Given the description of an element on the screen output the (x, y) to click on. 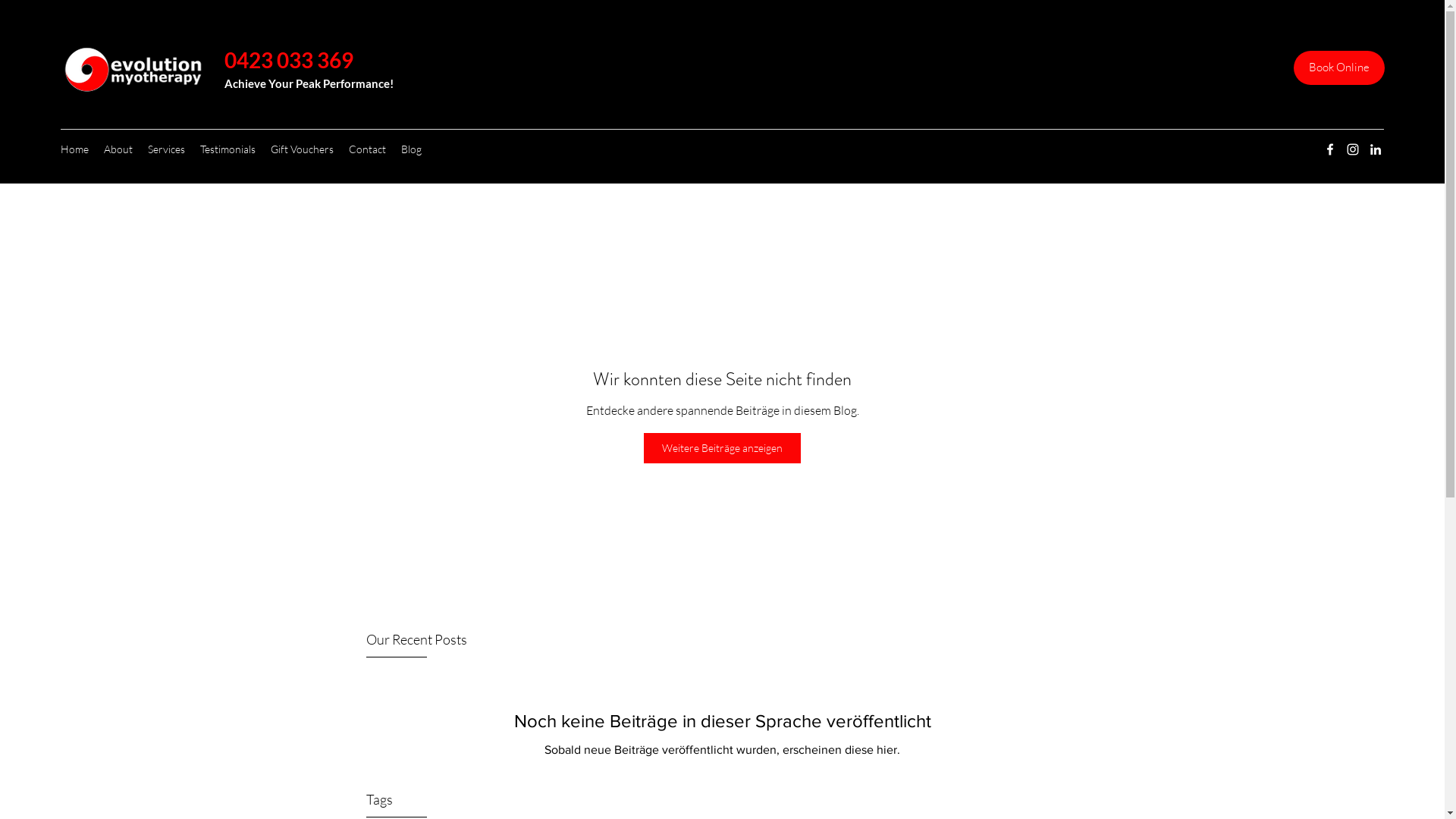
About Element type: text (118, 149)
Book Online Element type: text (1338, 67)
Contact Element type: text (367, 149)
Testimonials Element type: text (227, 149)
Blog Element type: text (411, 149)
Home Element type: text (74, 149)
Gift Vouchers Element type: text (302, 149)
Services Element type: text (166, 149)
